Given the description of an element on the screen output the (x, y) to click on. 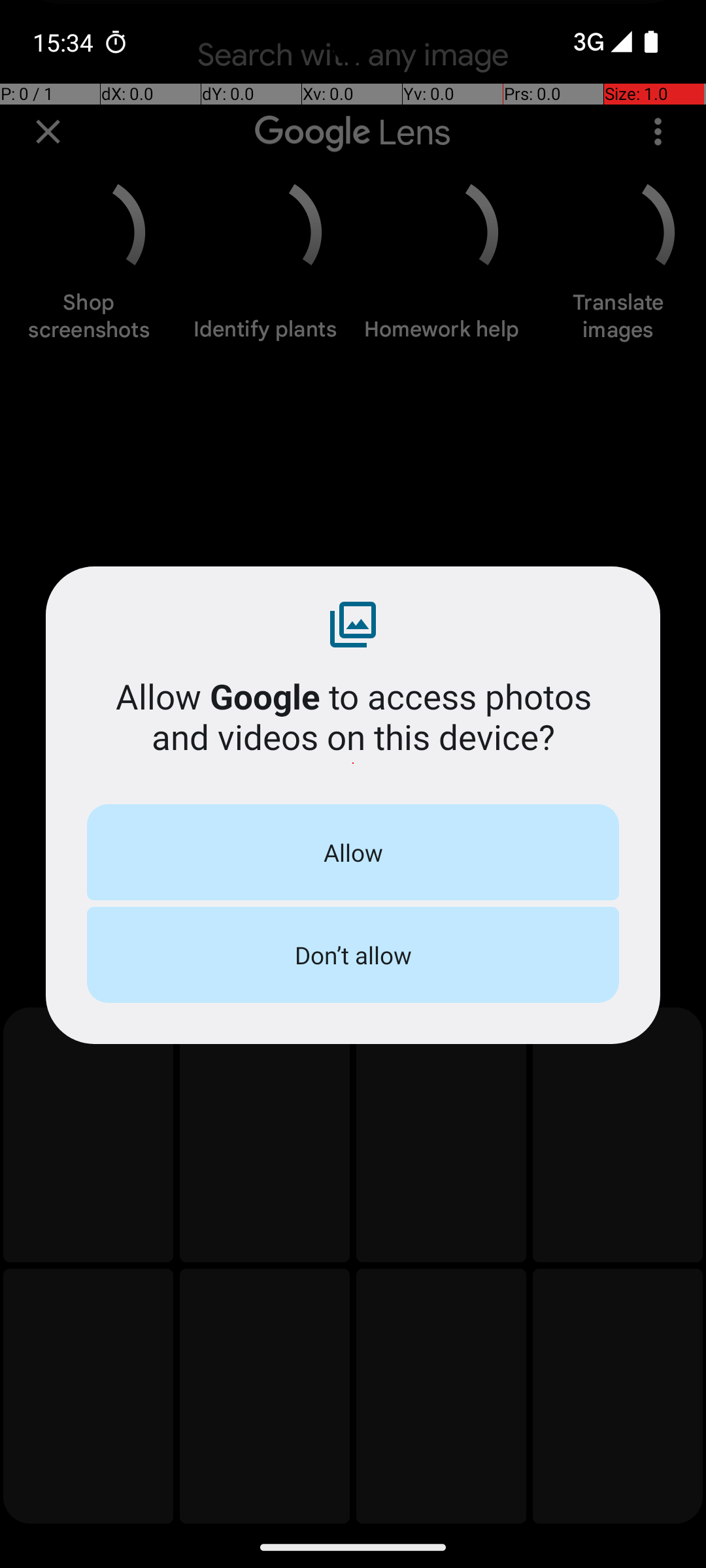
Allow Google to access photos and videos on this device? Element type: android.widget.TextView (352, 715)
